Given the description of an element on the screen output the (x, y) to click on. 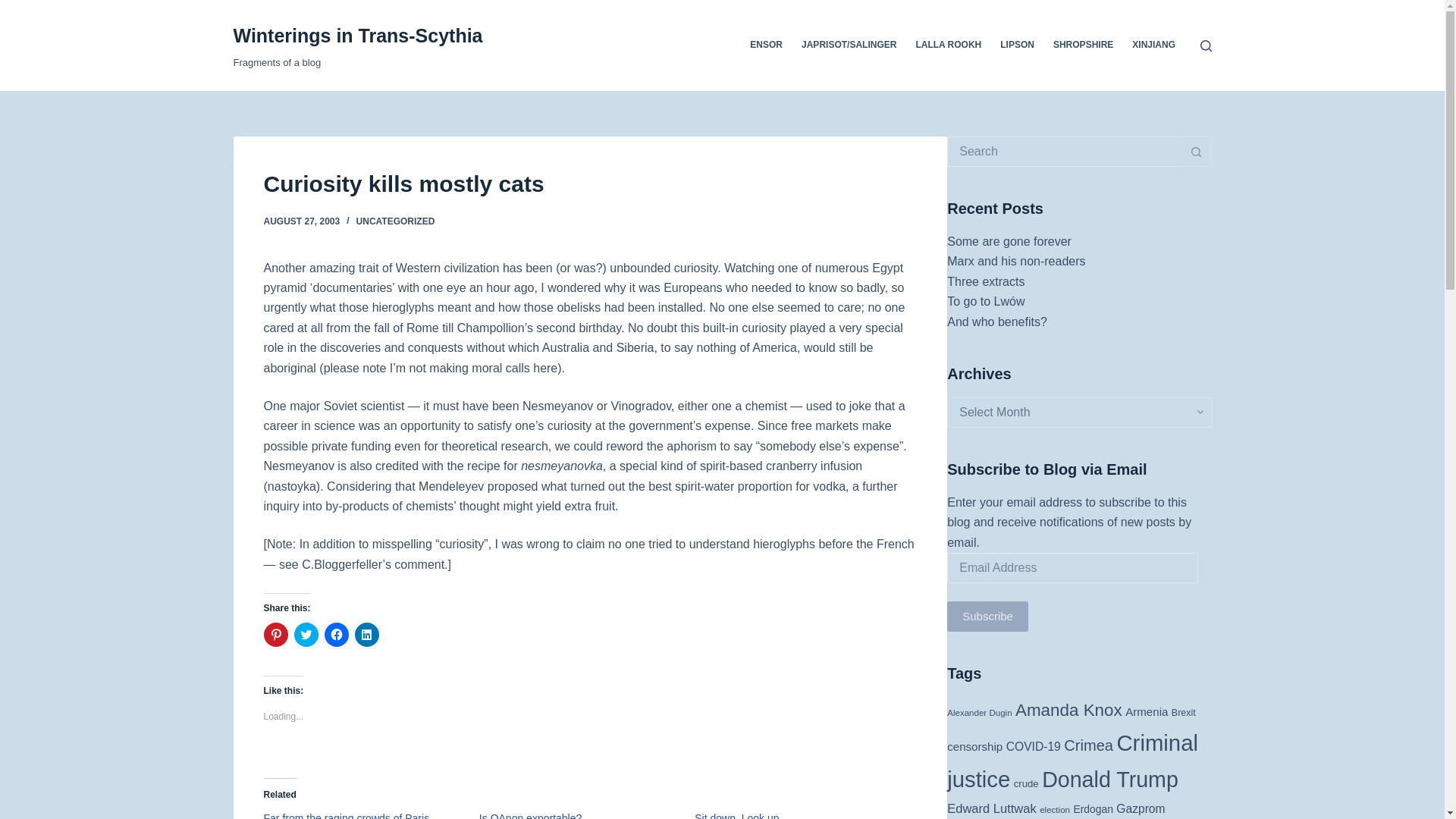
Curiosity kills mostly cats (590, 183)
Winterings in Trans-Scythia (357, 35)
Armenia (1146, 711)
Marx and his non-readers (1015, 260)
Click to share on Twitter (306, 634)
Amanda Knox (1068, 710)
Skip to content (15, 7)
Far from the raging crowds of Paris (346, 815)
Is QAnon exportable? (529, 815)
UNCATEGORIZED (395, 221)
And who benefits? (996, 321)
Is QAnon exportable? (529, 815)
Three extracts (986, 281)
Click to share on Pinterest (275, 634)
Some are gone forever (1009, 241)
